Given the description of an element on the screen output the (x, y) to click on. 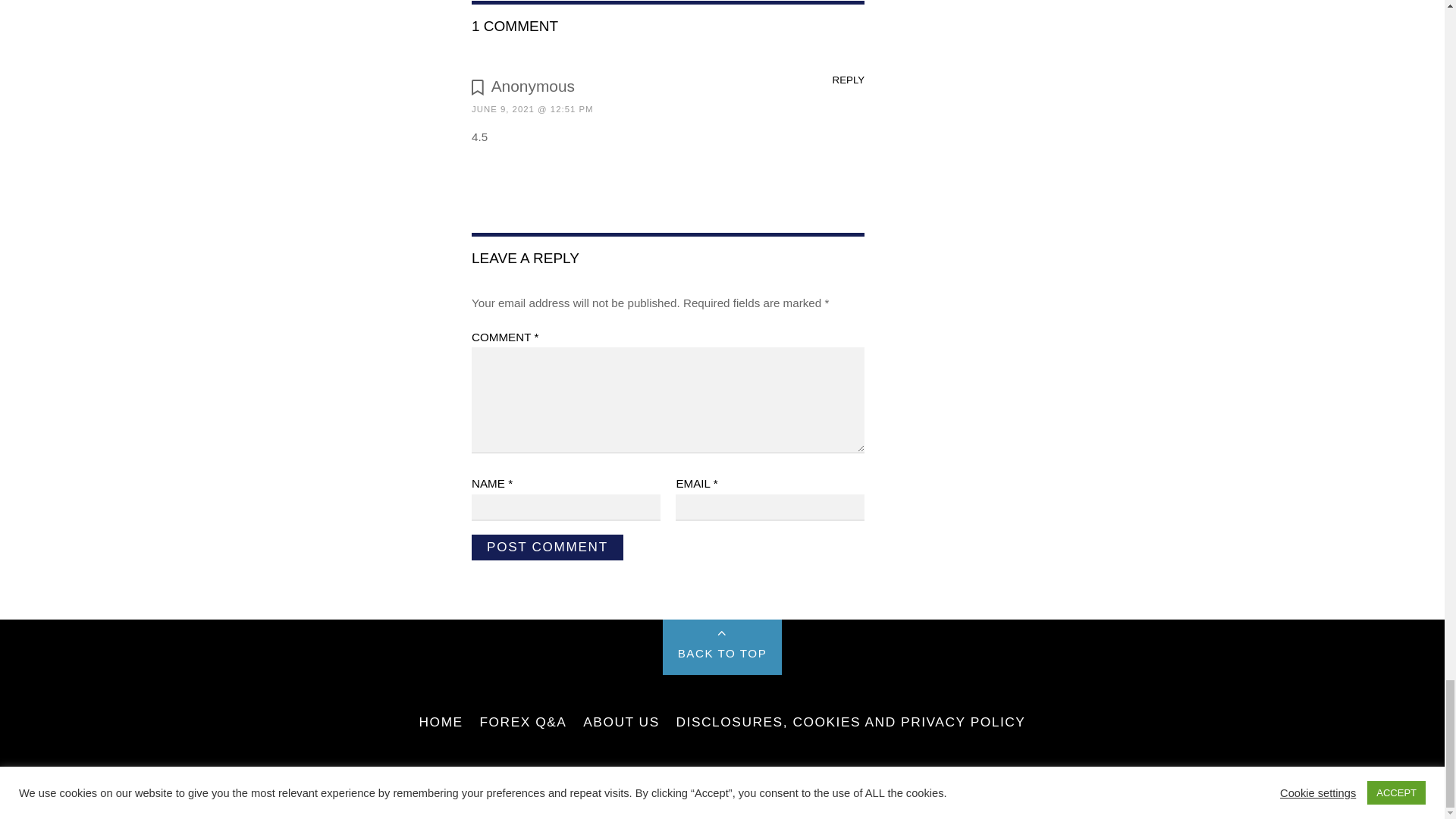
Post Comment (547, 547)
